Given the description of an element on the screen output the (x, y) to click on. 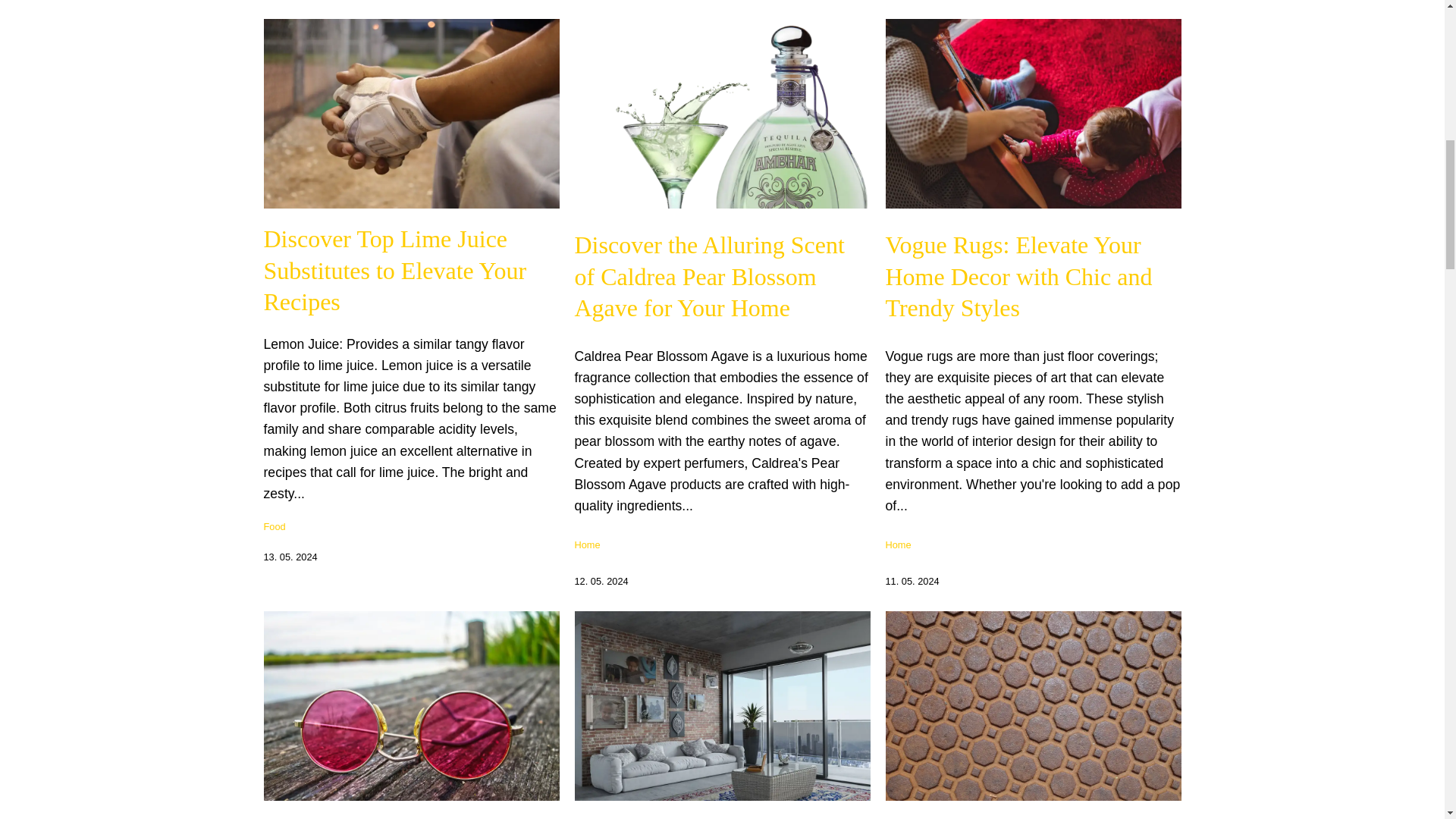
Home (587, 544)
Home (898, 544)
Food (274, 526)
Discover Top Lime Juice Substitutes to Elevate Your Recipes (395, 270)
